Given the description of an element on the screen output the (x, y) to click on. 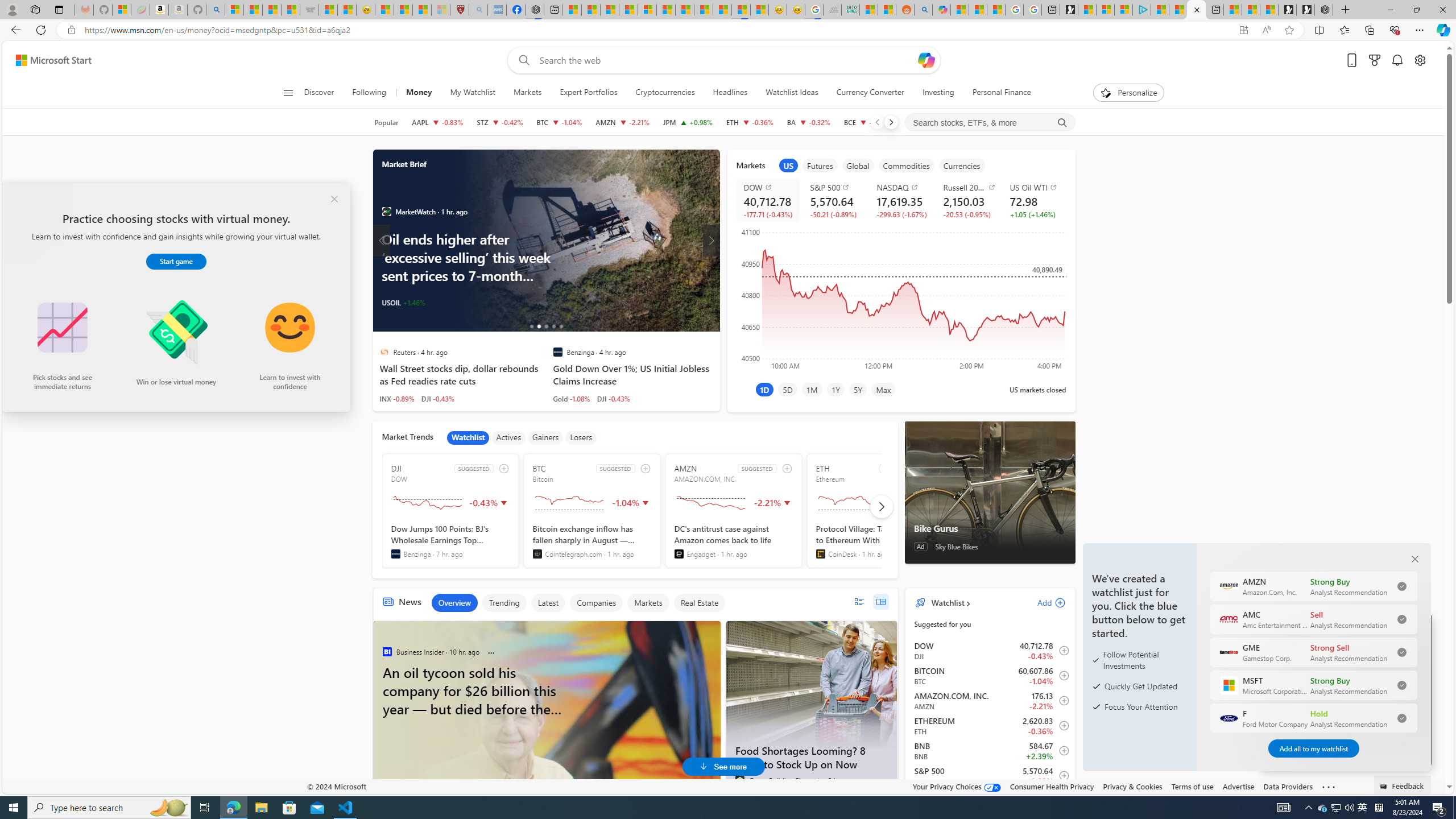
S&P 500 INX decrease 5,570.64 -50.21 -0.89% (834, 200)
AMZN SUGGESTED AMAZON.COM, INC. (733, 510)
Personal Finance (1001, 92)
item4 (905, 164)
AMZN AMAZON.COM, INC. decrease 176.13 -3.98 -2.21% item2 (989, 700)
DOW (770, 187)
Markets (526, 92)
DC's antitrust case against Amazon comes back to life (733, 540)
